Given the description of an element on the screen output the (x, y) to click on. 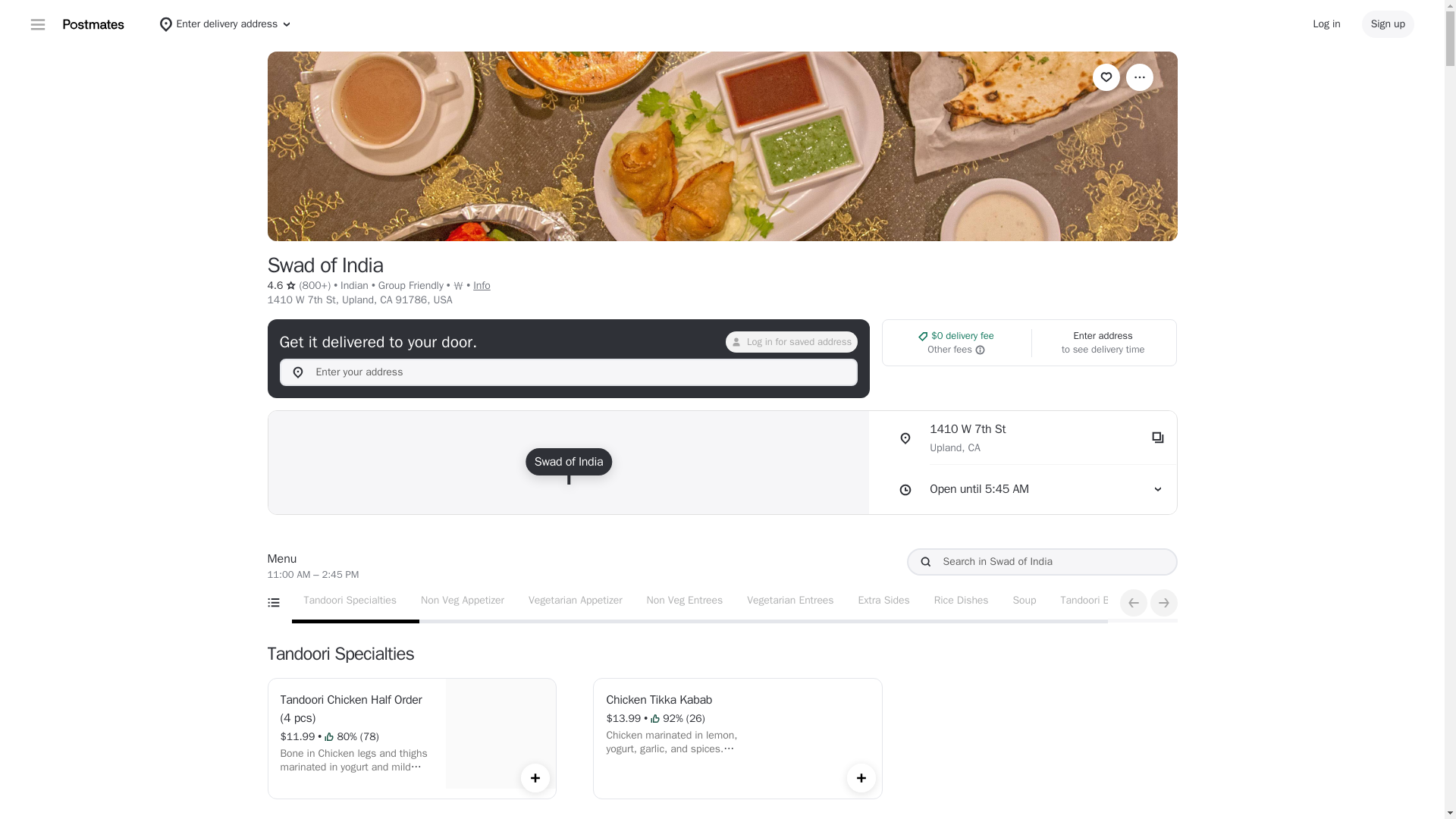
Add to favorites (1105, 76)
View more options (1139, 76)
